Given the description of an element on the screen output the (x, y) to click on. 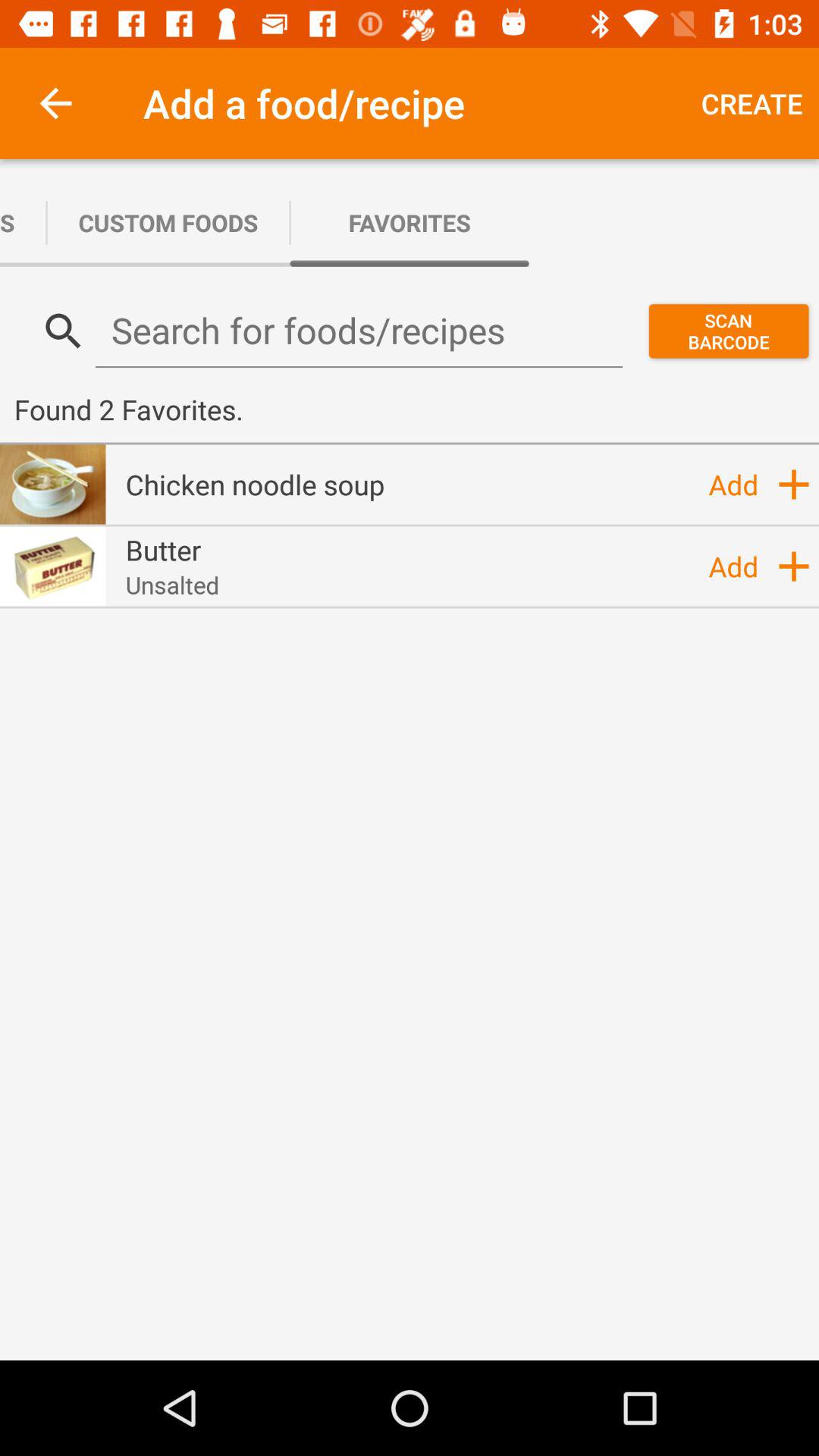
tap item to the left of add item (163, 549)
